Given the description of an element on the screen output the (x, y) to click on. 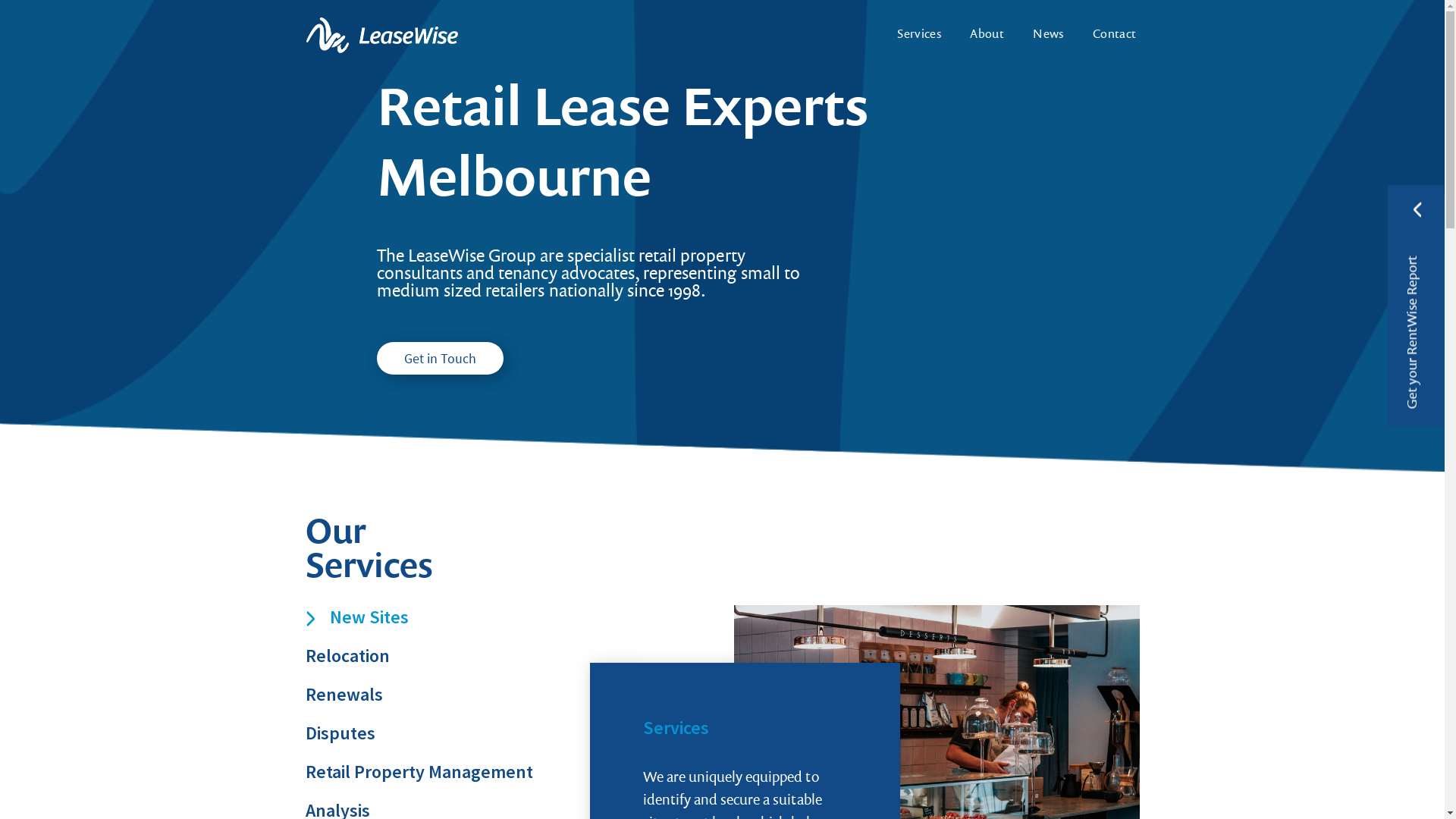
Renewals Element type: text (471, 694)
About Element type: text (986, 34)
Services Element type: text (918, 34)
Retail Property Management Element type: text (471, 771)
New Sites Element type: text (471, 616)
Contact Element type: text (1107, 34)
Get in Touch Element type: text (439, 357)
Relocation Element type: text (471, 655)
Disputes Element type: text (471, 732)
News Element type: text (1047, 34)
